Given the description of an element on the screen output the (x, y) to click on. 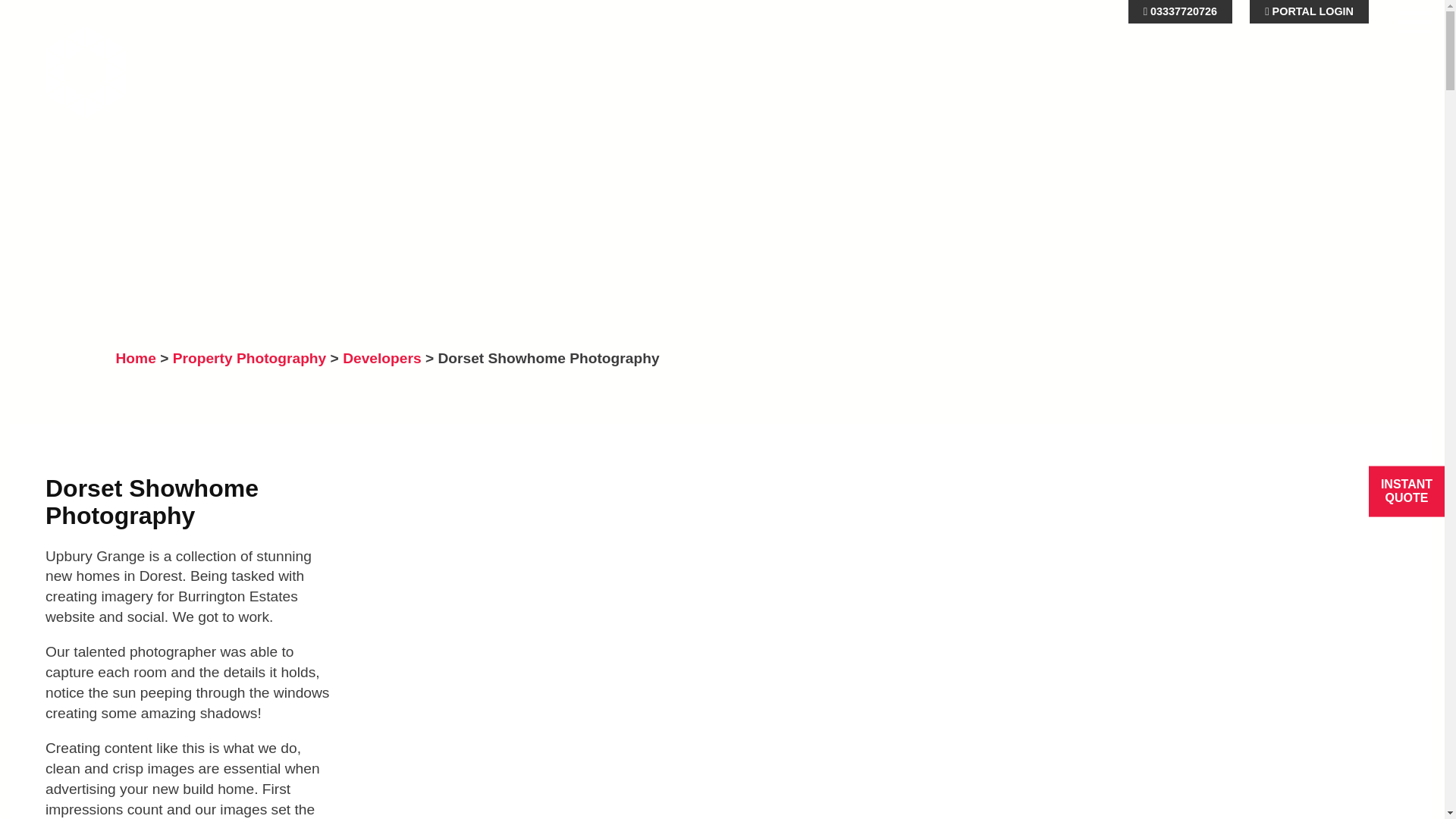
Go to Property Photography. (249, 358)
Home (135, 358)
03337720726 (1179, 11)
PORTAL LOGIN (1308, 11)
Go to Home. (135, 358)
Go to the Developers Industry archives. (381, 358)
Property Photography (249, 358)
Developers (381, 358)
